Given the description of an element on the screen output the (x, y) to click on. 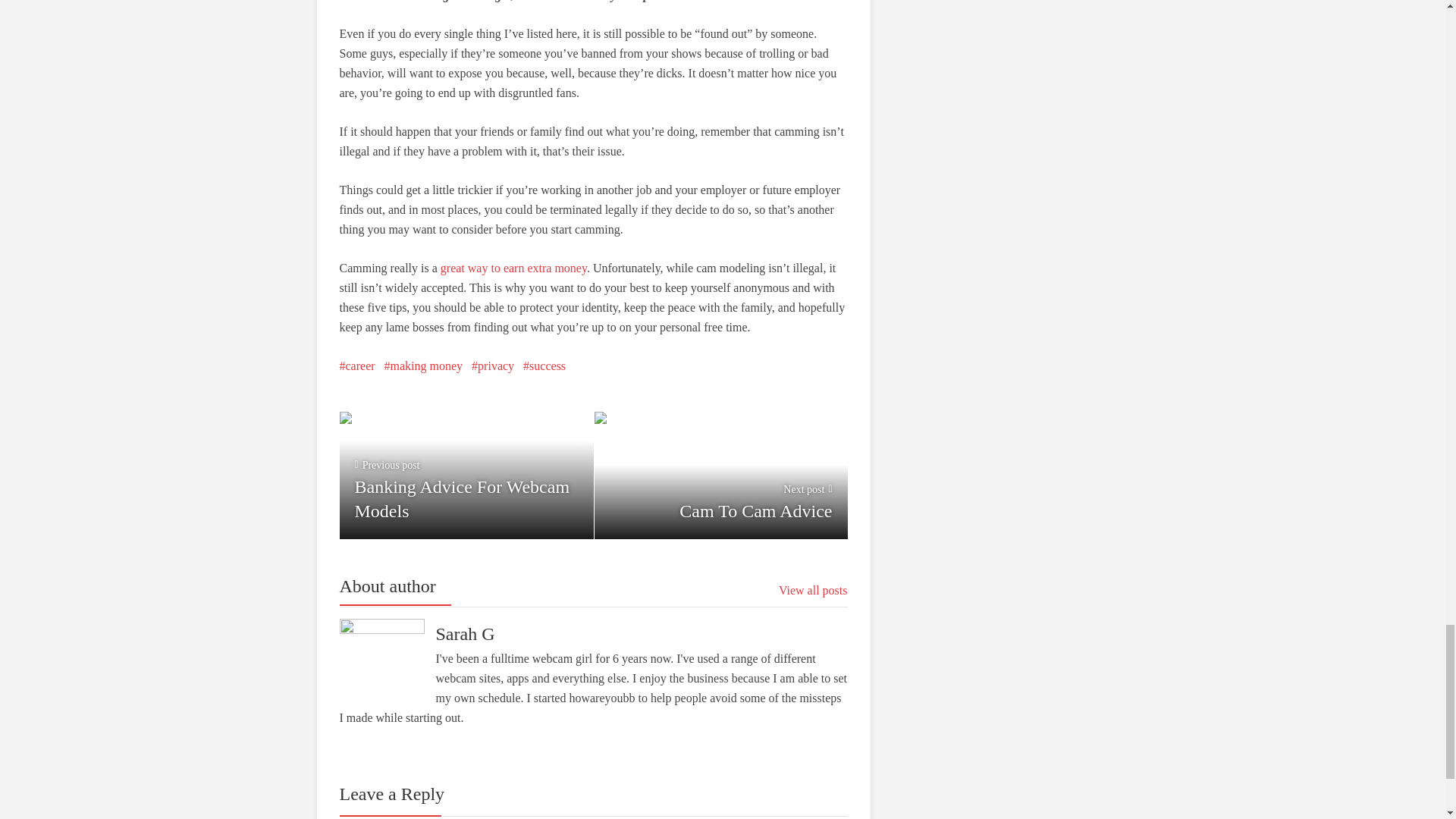
great way to earn extra money (513, 267)
success (544, 365)
View all posts (466, 472)
making money (812, 590)
privacy (423, 365)
career (720, 472)
